Given the description of an element on the screen output the (x, y) to click on. 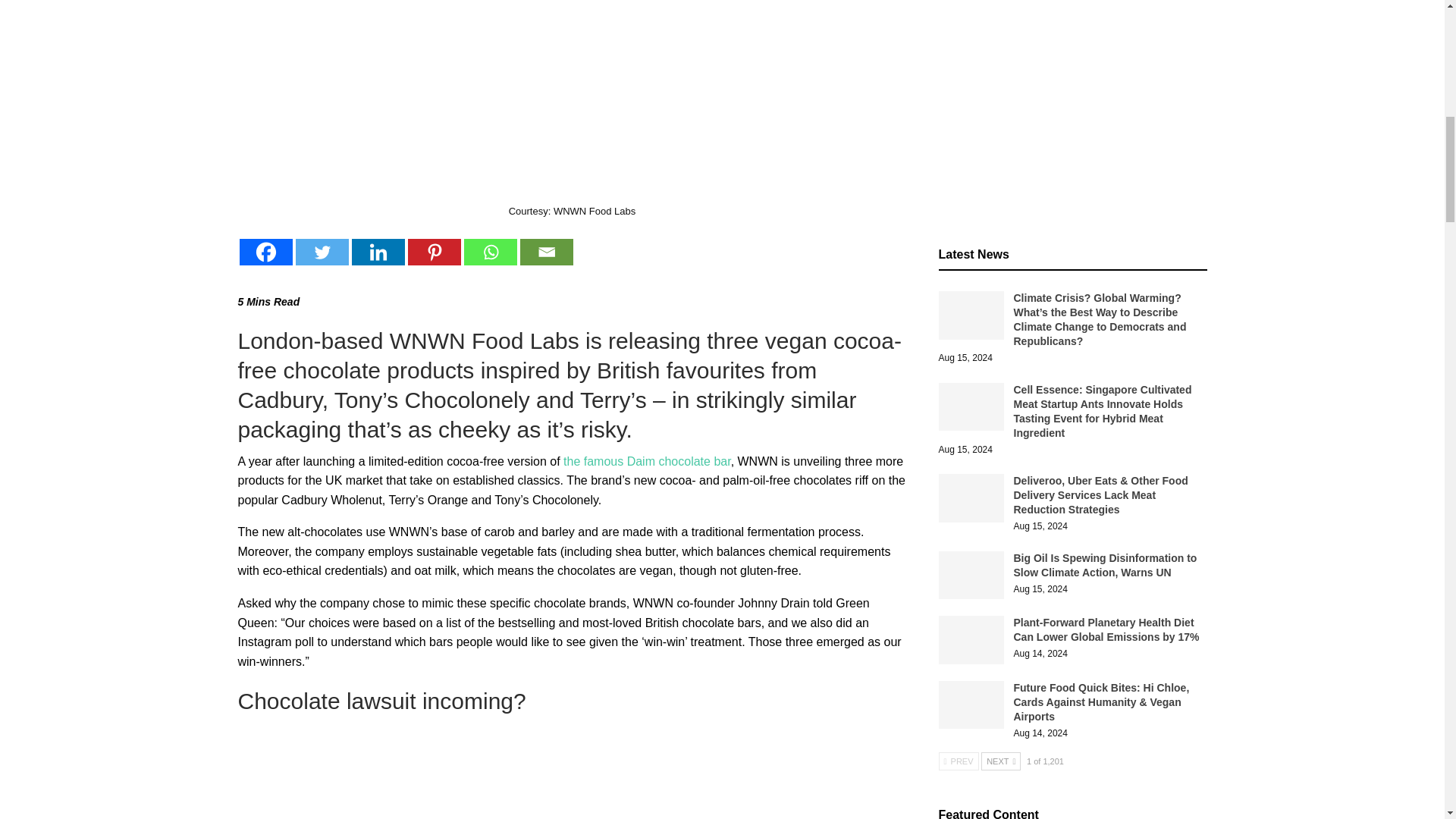
Email (546, 252)
Facebook (266, 252)
Linkedin (378, 252)
Pinterest (434, 252)
Whatsapp (490, 252)
the famous Daim chocolate bar (646, 461)
Twitter (322, 252)
